Given the description of an element on the screen output the (x, y) to click on. 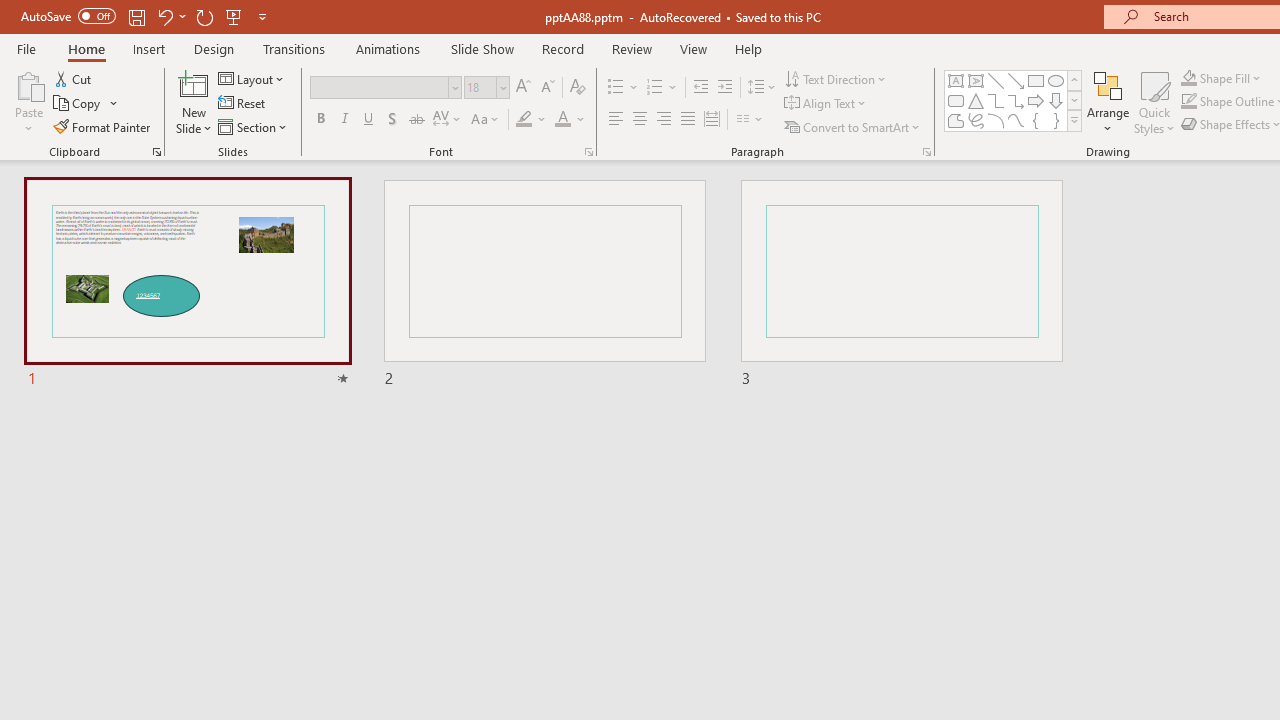
Section (254, 126)
Connector: Elbow (995, 100)
Decrease Indent (700, 87)
Strikethrough (416, 119)
Font... (588, 151)
Arrange (1108, 102)
AutomationID: ShapesInsertGallery (1014, 100)
